Given the description of an element on the screen output the (x, y) to click on. 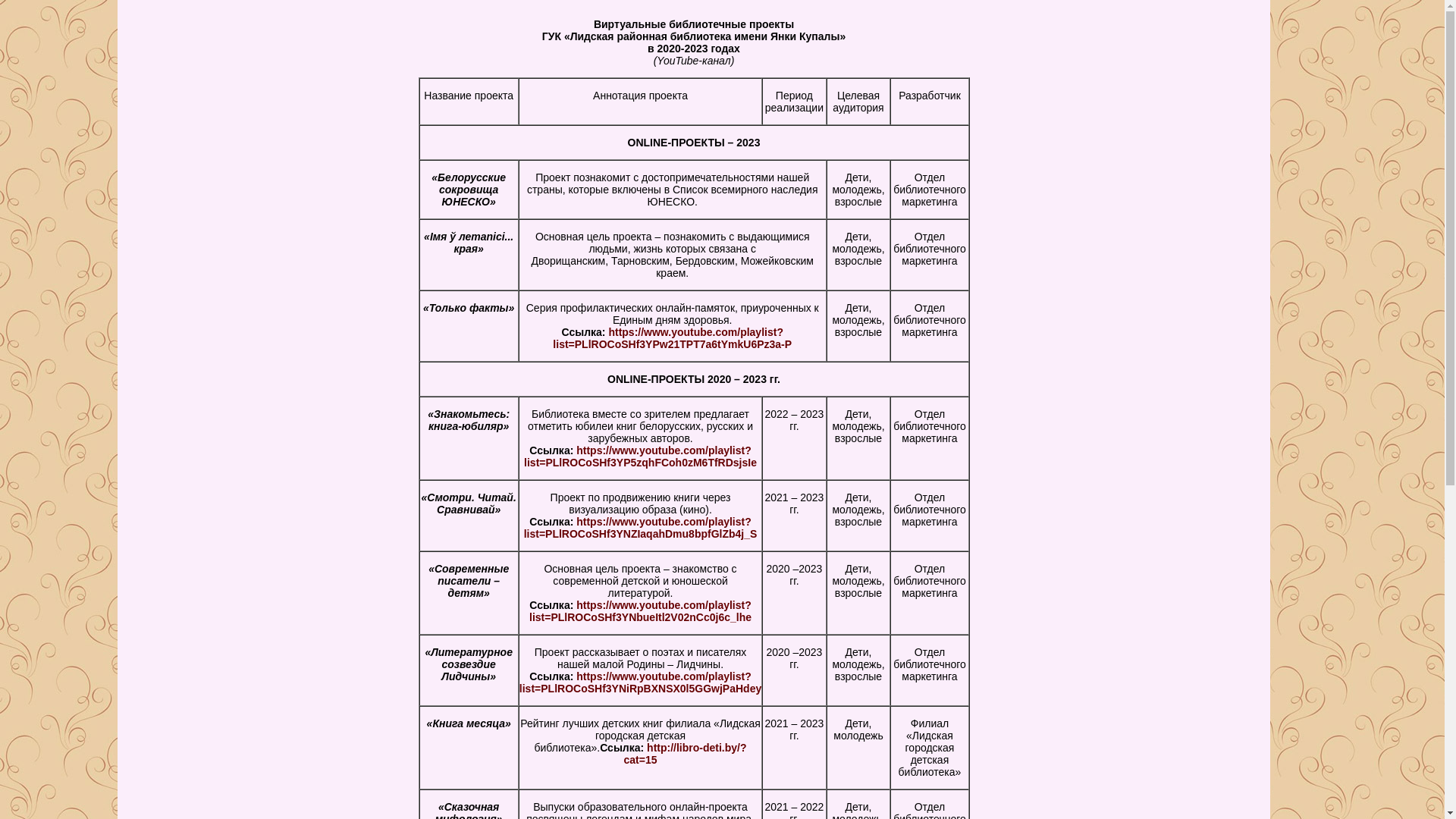
http://libro-deti.by/?cat=15 Element type: text (685, 753)
